Given the description of an element on the screen output the (x, y) to click on. 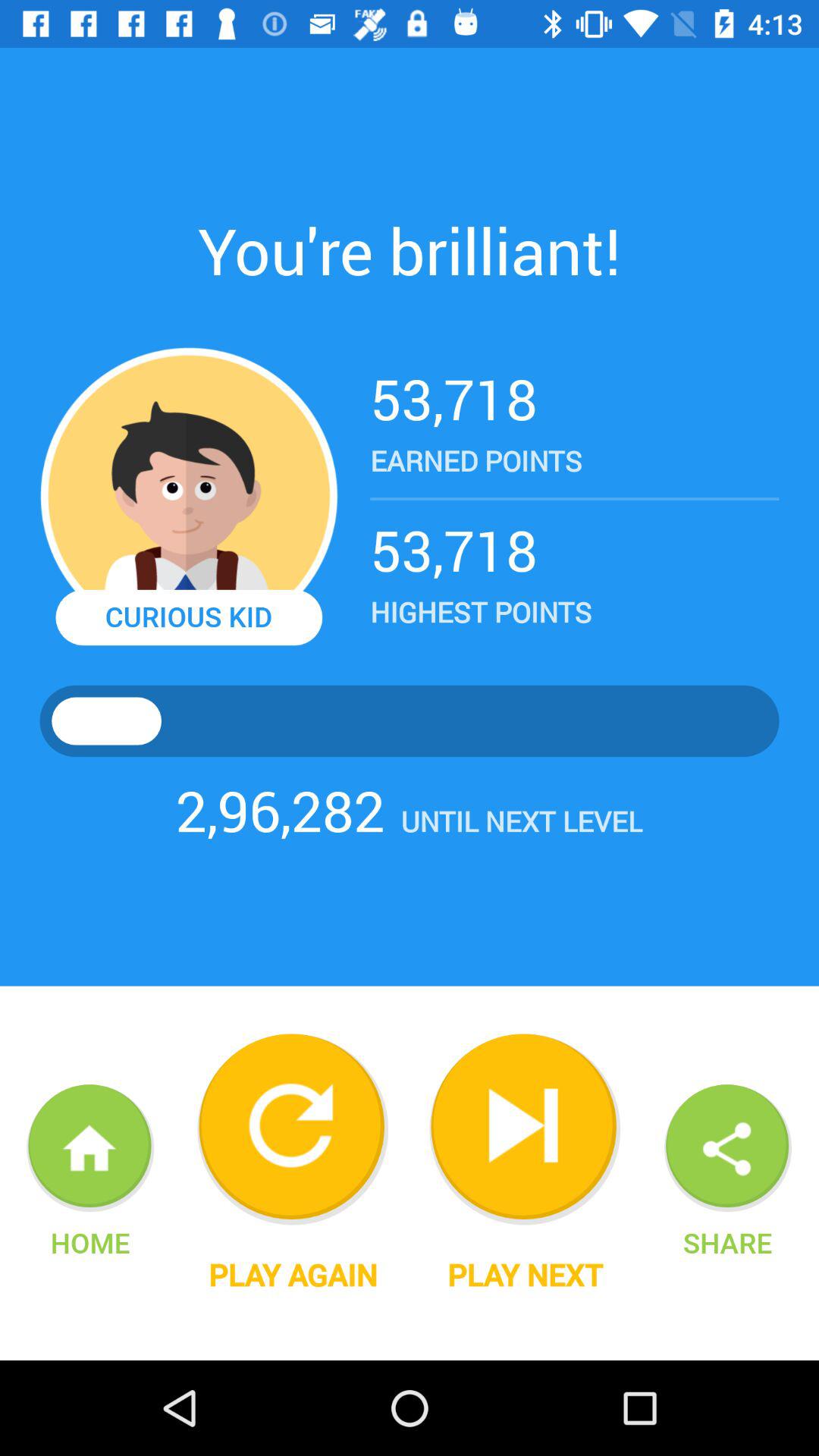
click play again item (292, 1274)
